Given the description of an element on the screen output the (x, y) to click on. 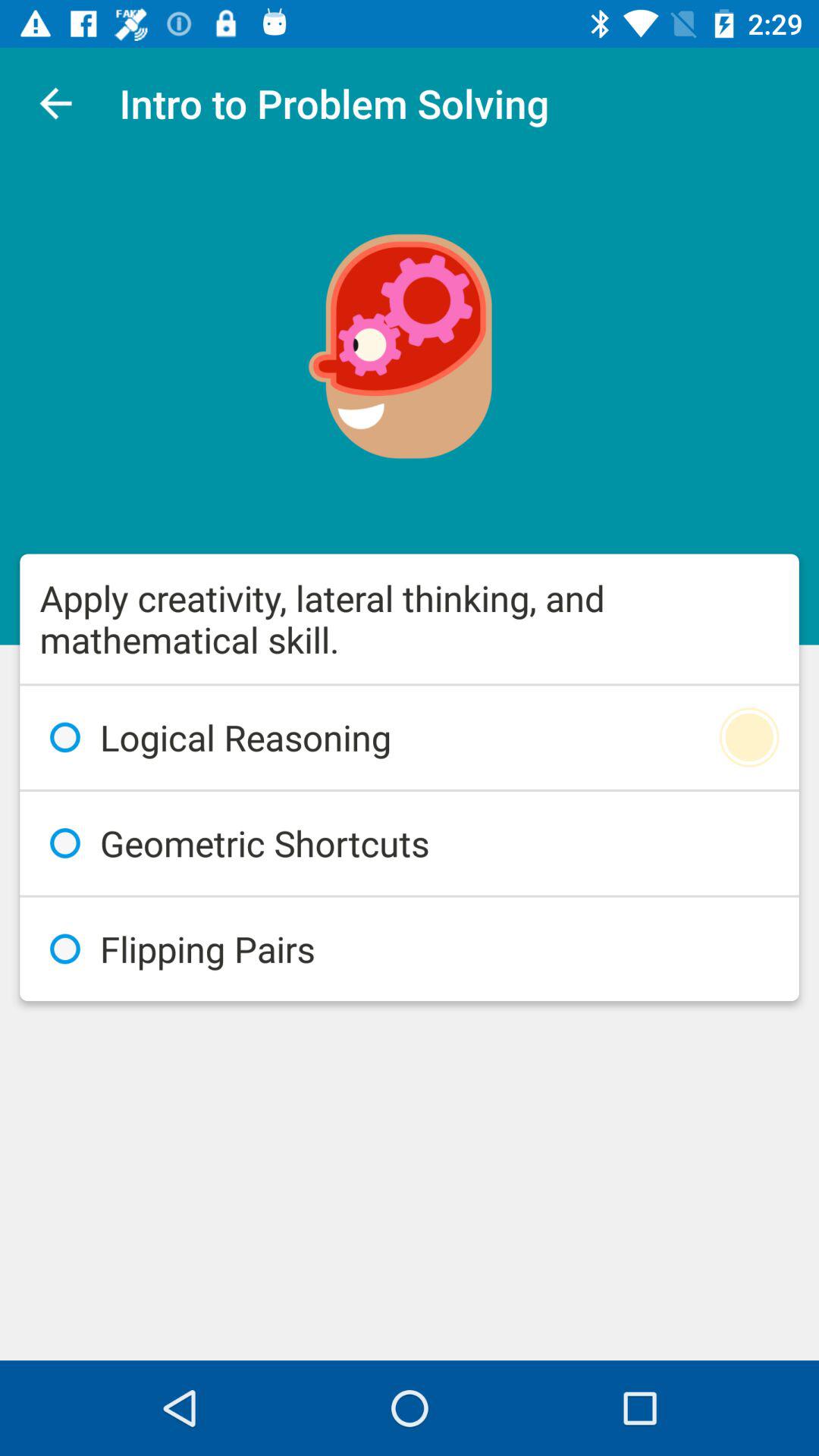
click the geometric shortcuts icon (409, 843)
